Given the description of an element on the screen output the (x, y) to click on. 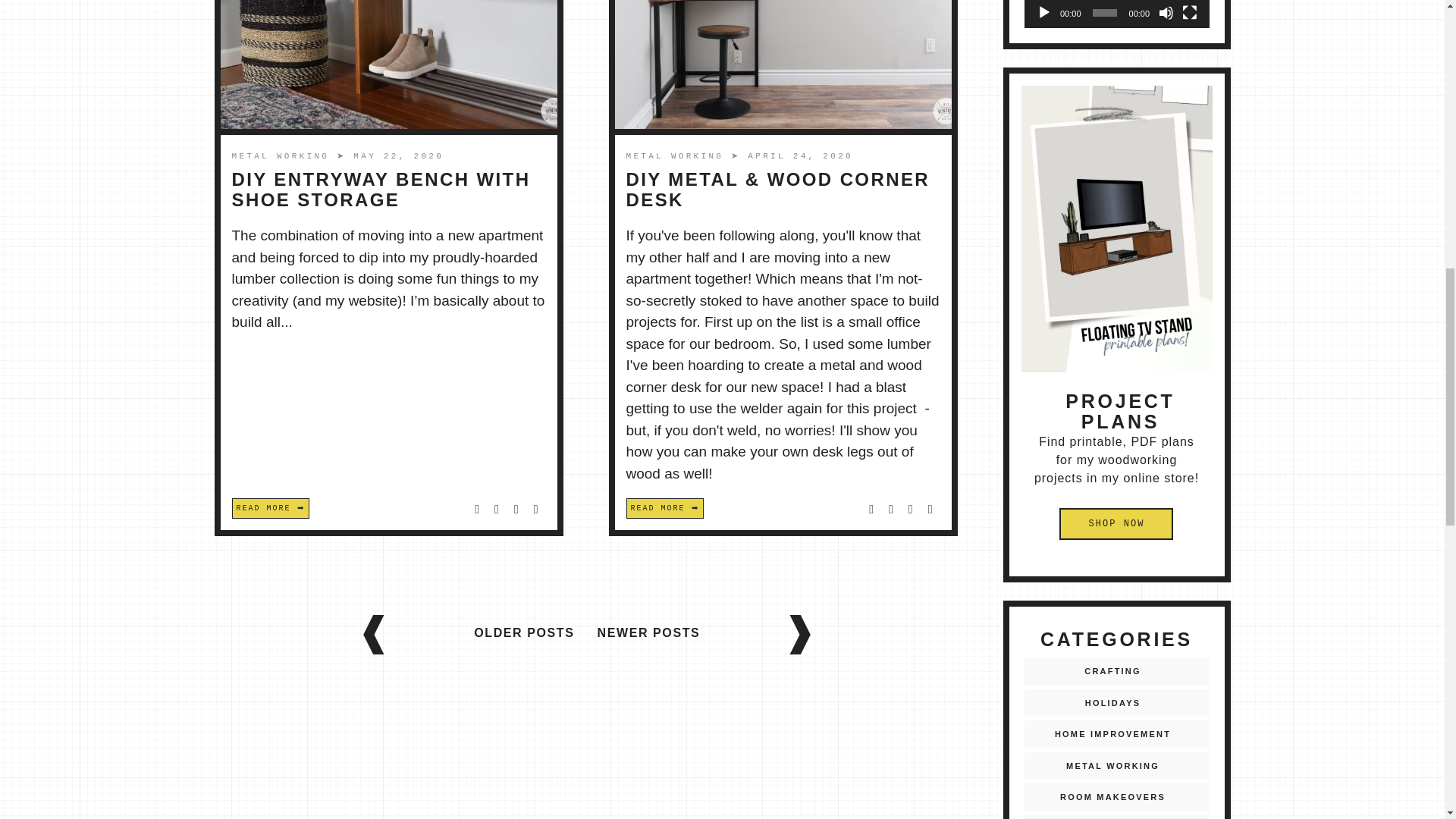
Mute (1165, 12)
Play (1043, 12)
Fullscreen (1189, 12)
